Given the description of an element on the screen output the (x, y) to click on. 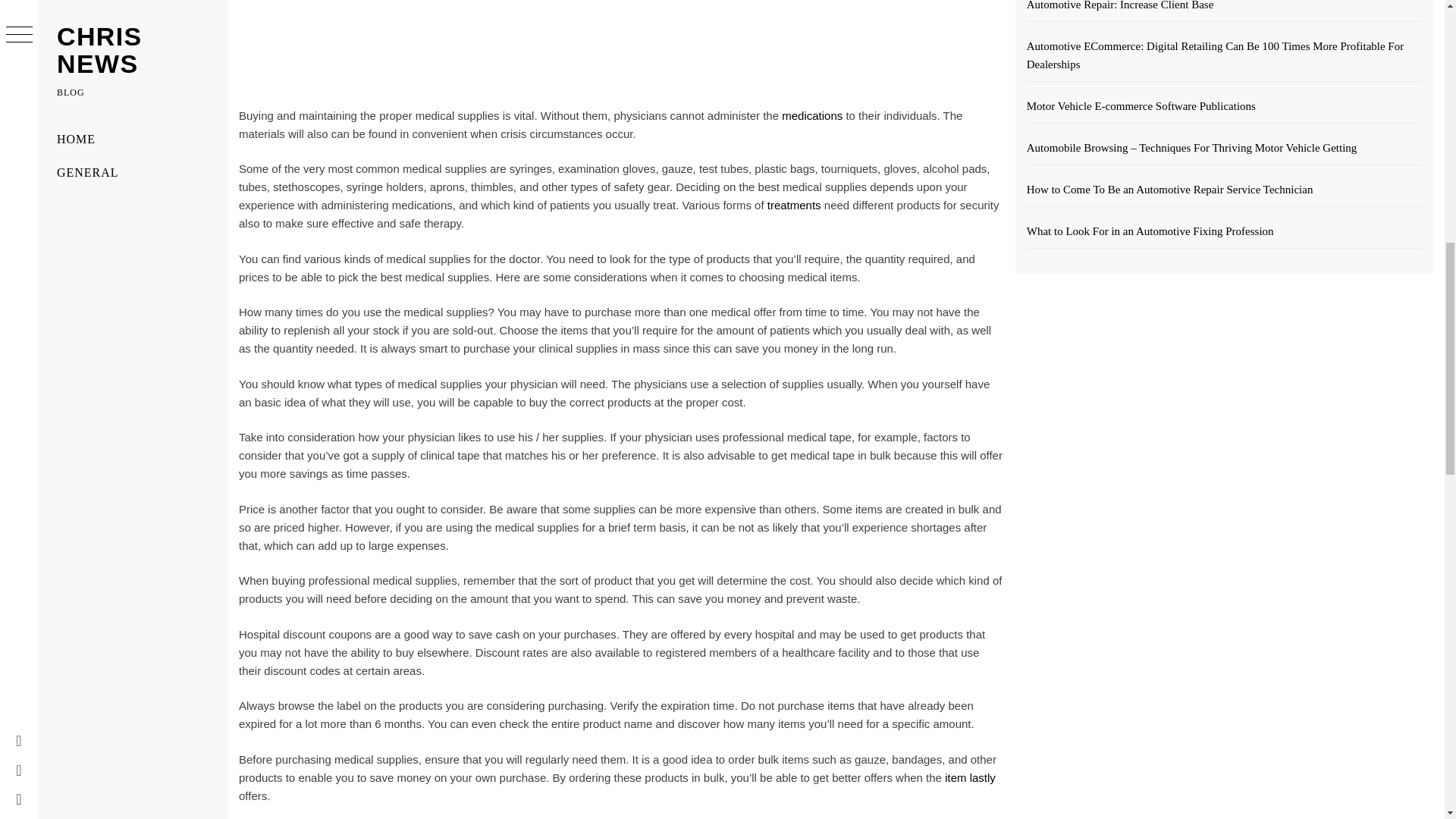
treatments (794, 205)
medications (812, 115)
item lastly (969, 777)
